Given the description of an element on the screen output the (x, y) to click on. 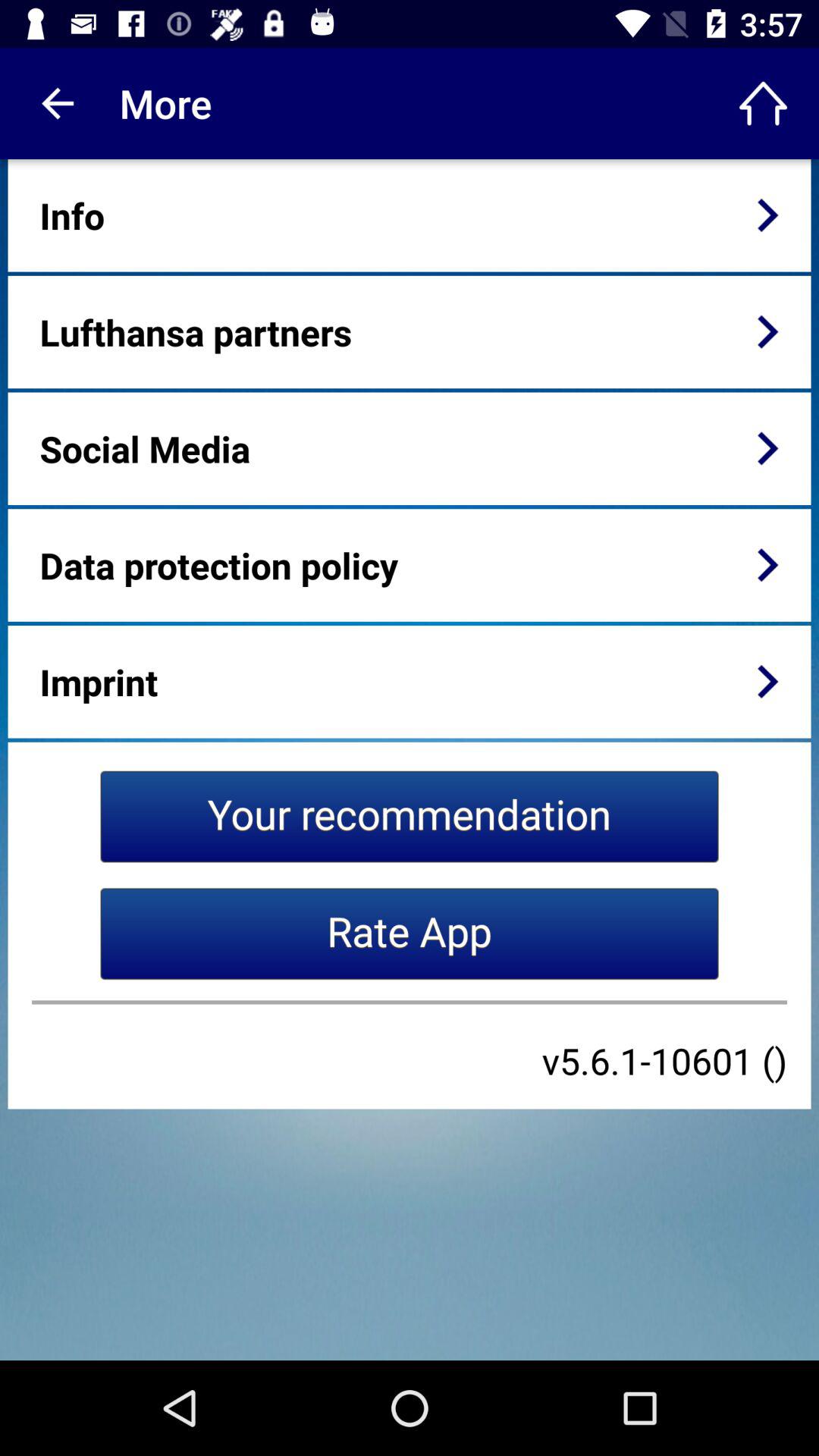
select the item next to more icon (55, 103)
